Given the description of an element on the screen output the (x, y) to click on. 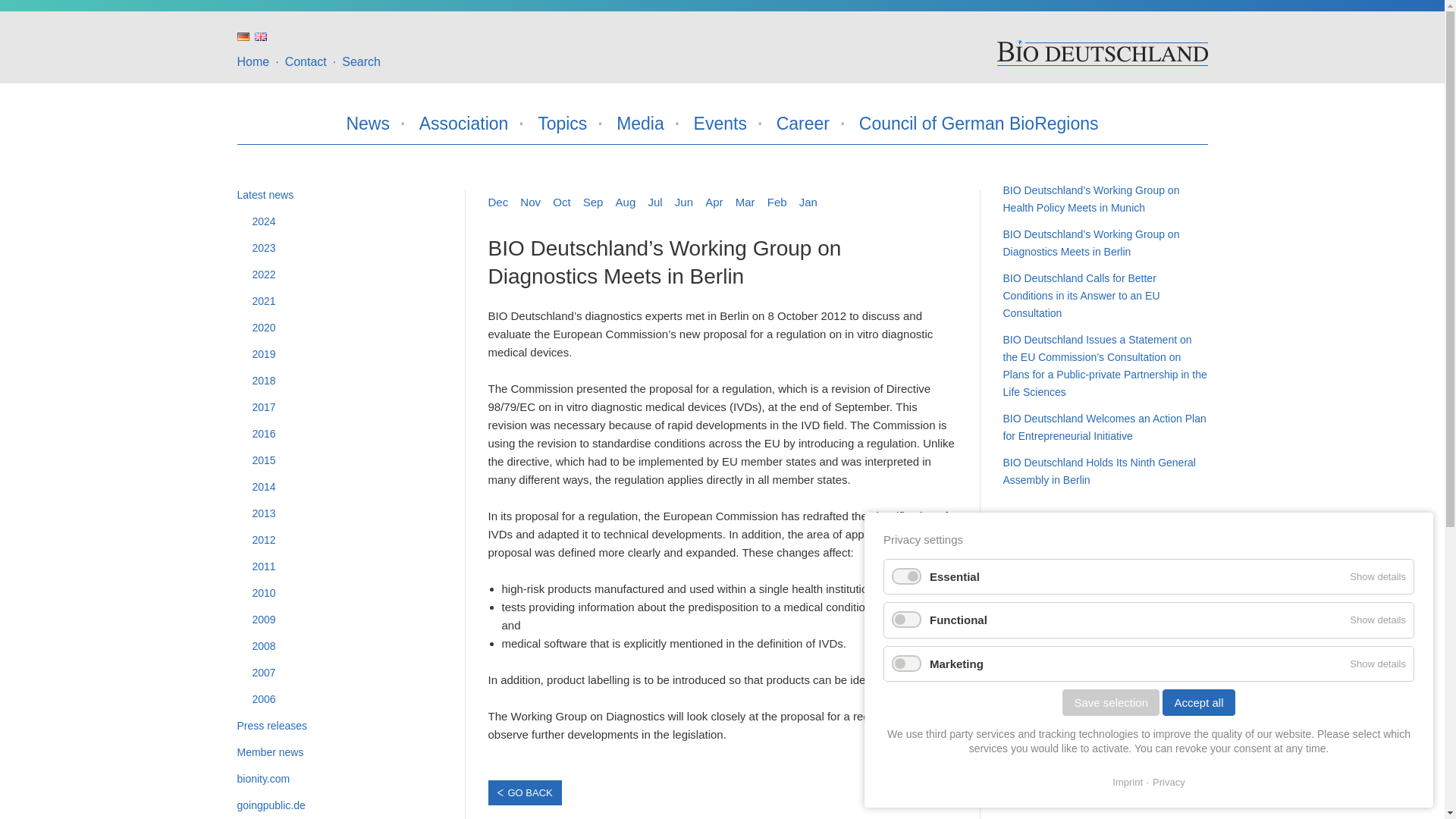
Council of German BioRegions (979, 123)
Dec (497, 202)
2023 (346, 248)
Home (252, 61)
Jan (807, 202)
Apr (713, 202)
Feb (777, 202)
2018 (346, 380)
Dates (720, 123)
Home (1101, 51)
Home (252, 61)
Contact (305, 61)
Sep (593, 202)
Topics (561, 123)
Search (361, 61)
